Given the description of an element on the screen output the (x, y) to click on. 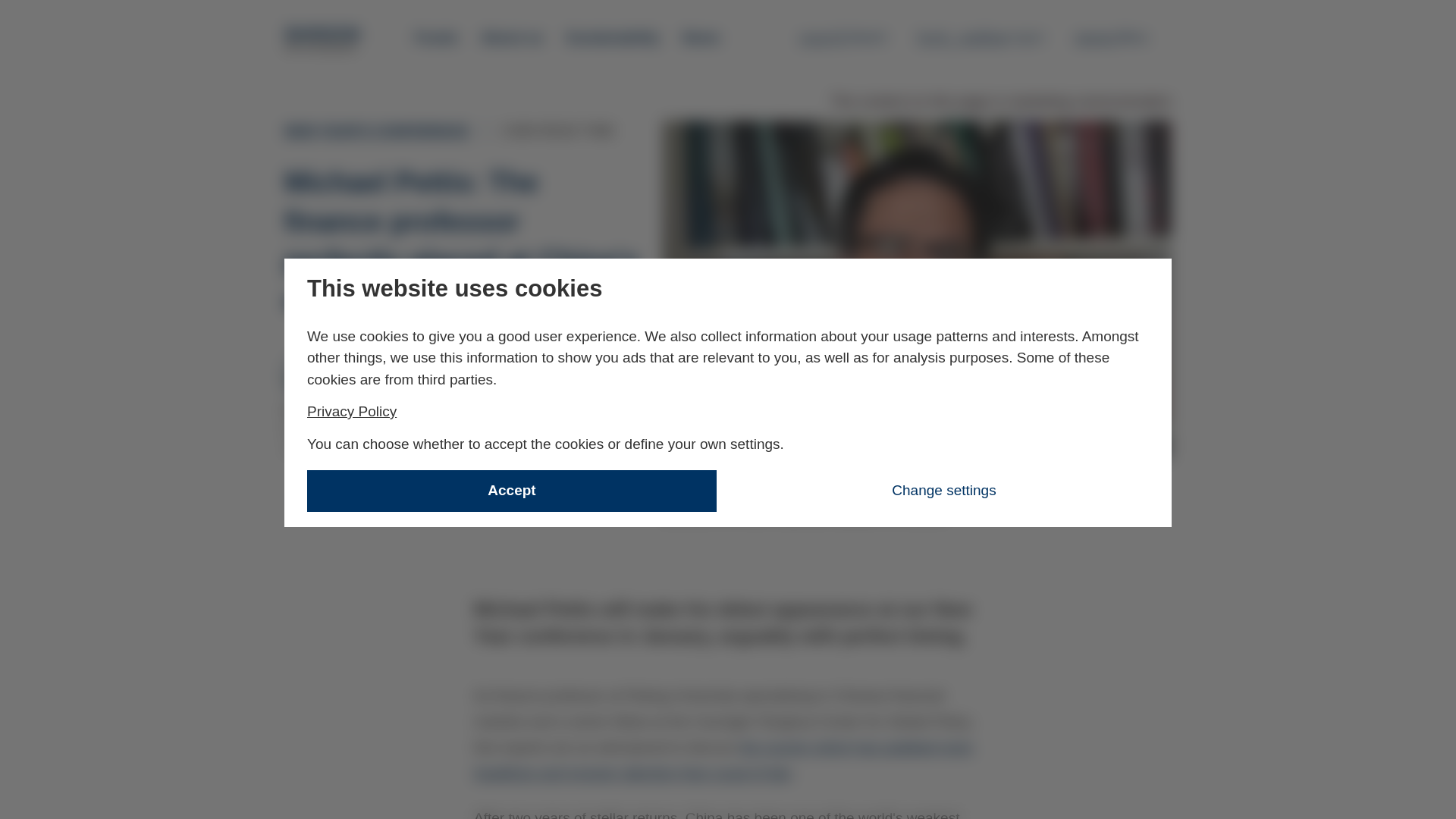
China (314, 499)
Funds (436, 37)
Nick Henderson (351, 411)
SKAGEN Funds (323, 39)
Sustainability (612, 37)
About us (511, 37)
